Given the description of an element on the screen output the (x, y) to click on. 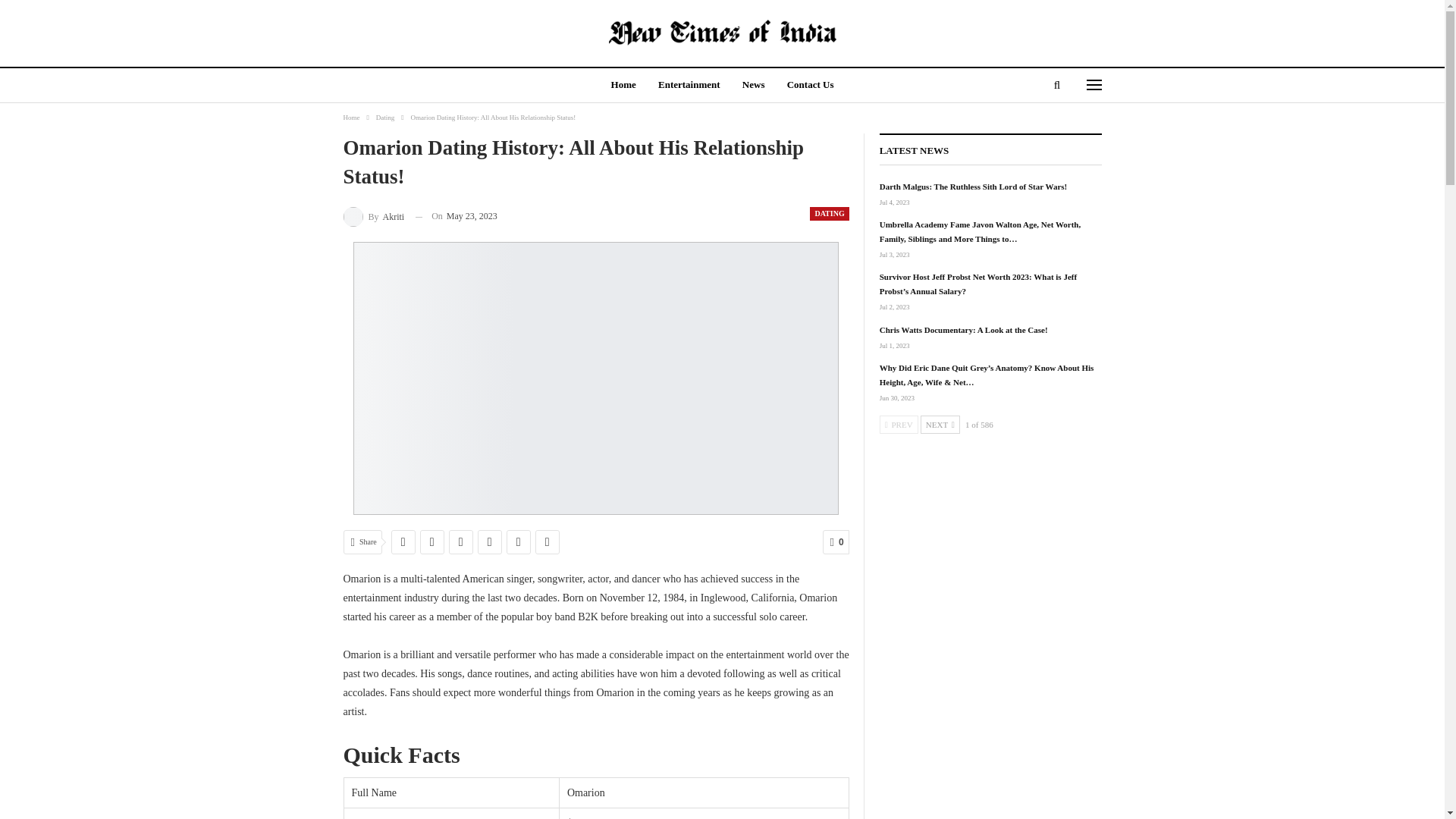
Home (350, 117)
Dating (384, 117)
Entertainment (689, 85)
DATING (828, 213)
Browse Author Articles (373, 216)
News (753, 85)
0 (835, 541)
By Akriti (373, 216)
Home (623, 85)
Contact Us (810, 85)
